Given the description of an element on the screen output the (x, y) to click on. 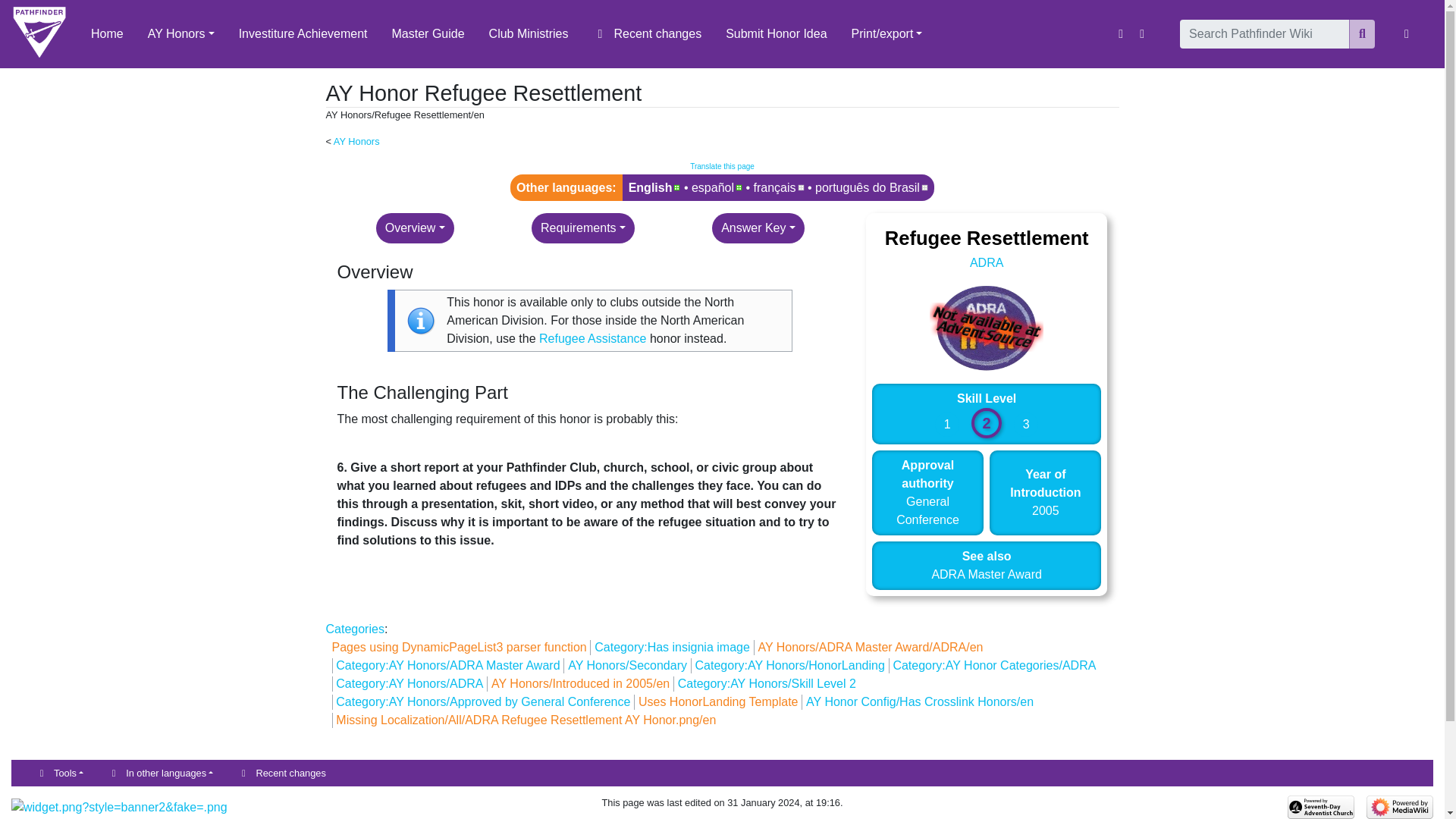
Home (106, 33)
Visit the main page (38, 33)
English (654, 187)
Investiture Achievement (303, 33)
Submit Honor Idea (775, 33)
Special:Translate (722, 166)
Translate this page (722, 166)
AY Honors (356, 141)
Recent changes (647, 33)
Club Ministries (528, 33)
Go to a page with this exact name if it exists (1361, 33)
Go (1361, 33)
Master Guide (428, 33)
AY Honors (181, 33)
